Given the description of an element on the screen output the (x, y) to click on. 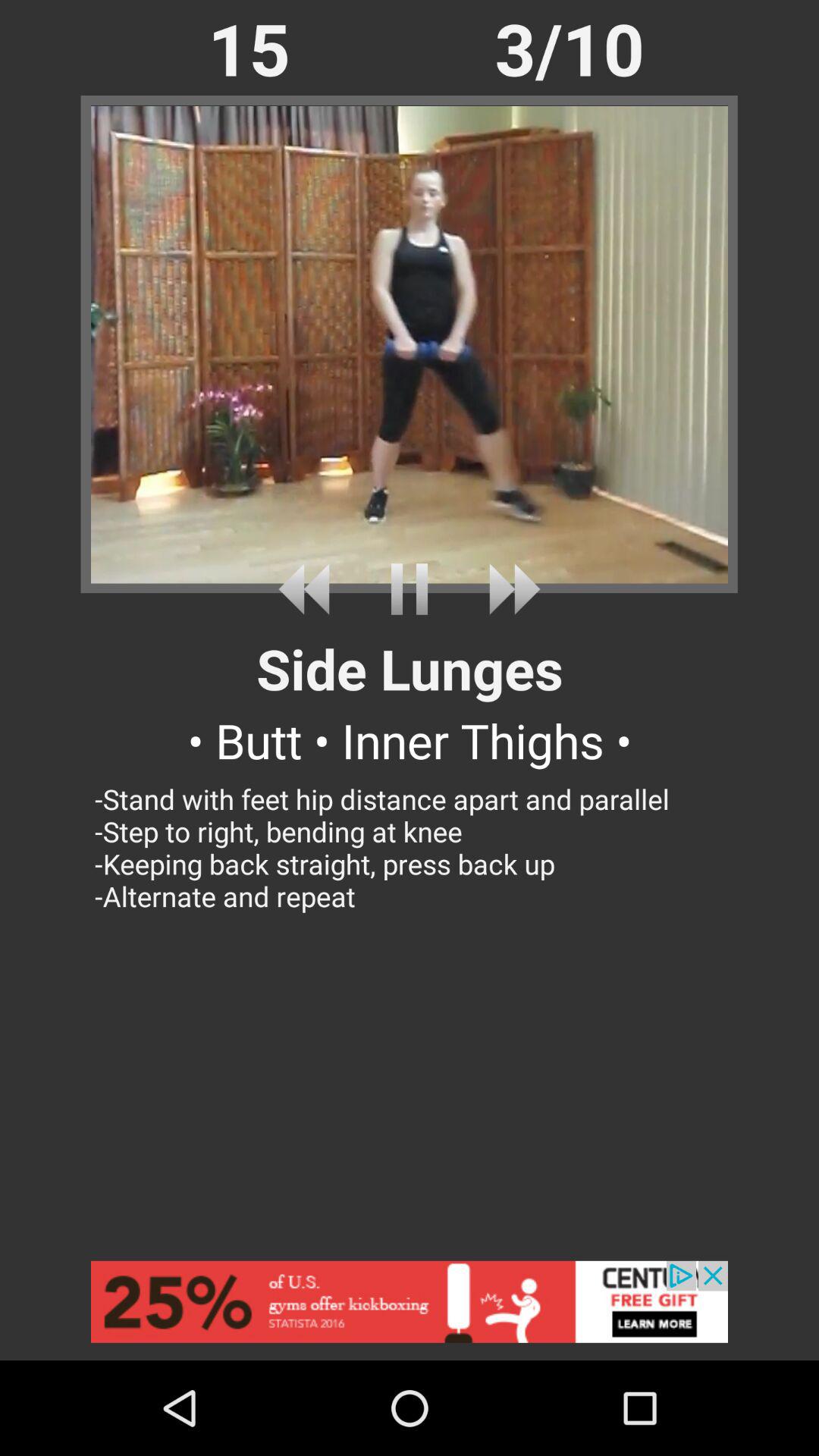
pause (409, 589)
